Given the description of an element on the screen output the (x, y) to click on. 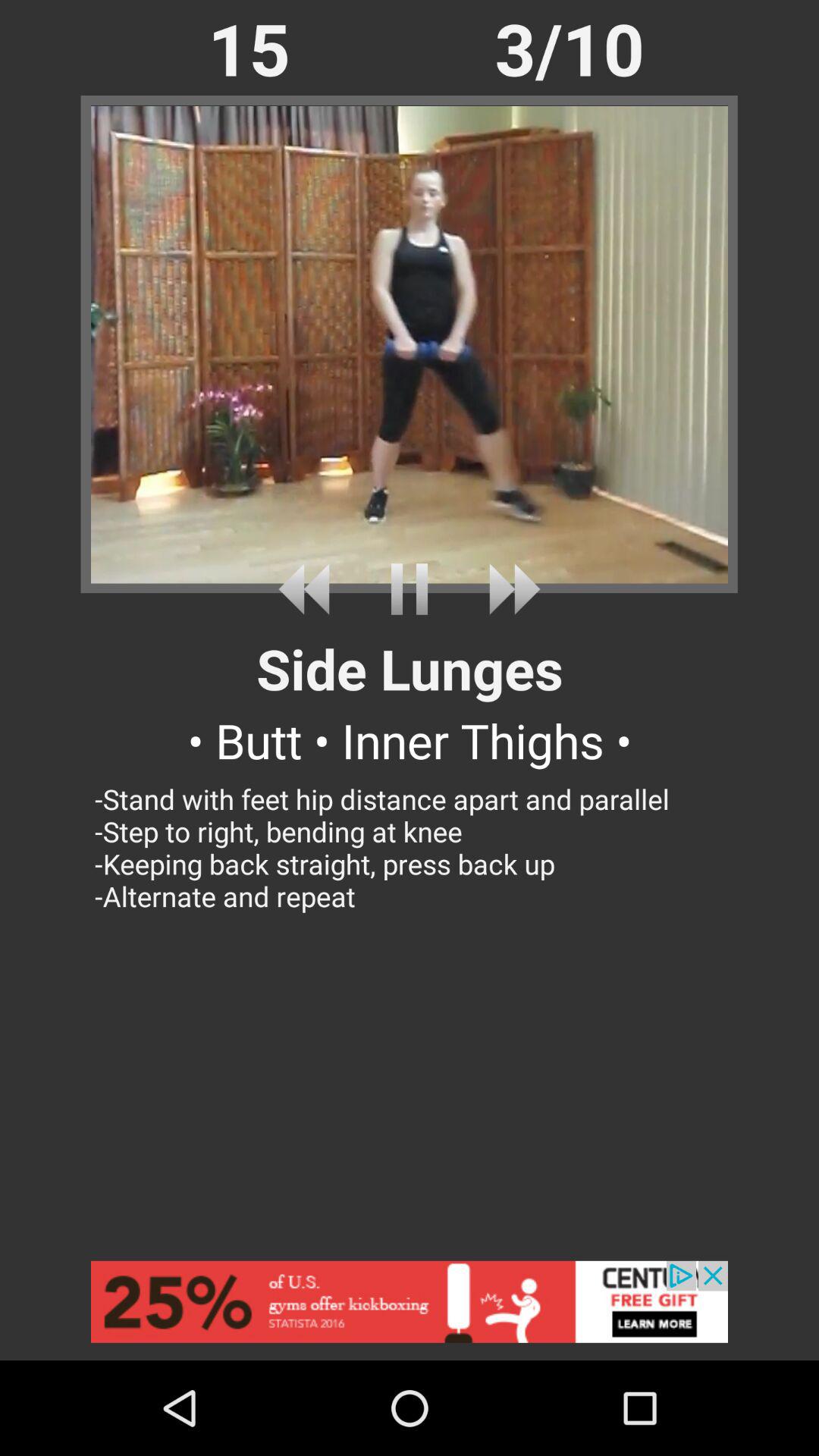
pause (409, 589)
